Given the description of an element on the screen output the (x, y) to click on. 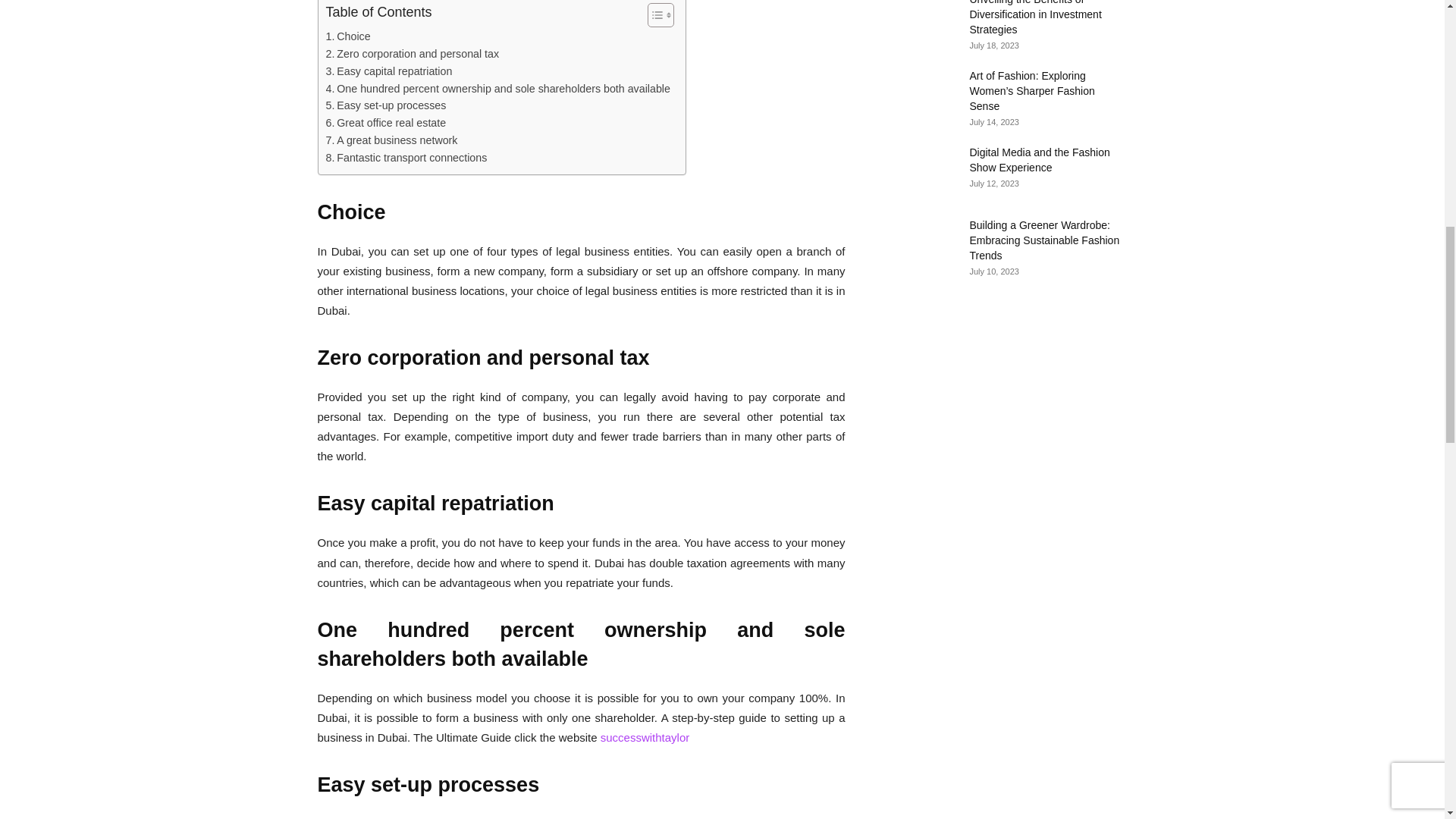
Easy capital repatriation (389, 71)
Zero corporation and personal tax (412, 54)
Great office real estate (386, 122)
Fantastic transport connections (406, 158)
successwithtaylor (644, 737)
Choice (348, 36)
Easy set-up processes (386, 105)
A great business network (392, 140)
Fantastic transport connections (406, 158)
